Given the description of an element on the screen output the (x, y) to click on. 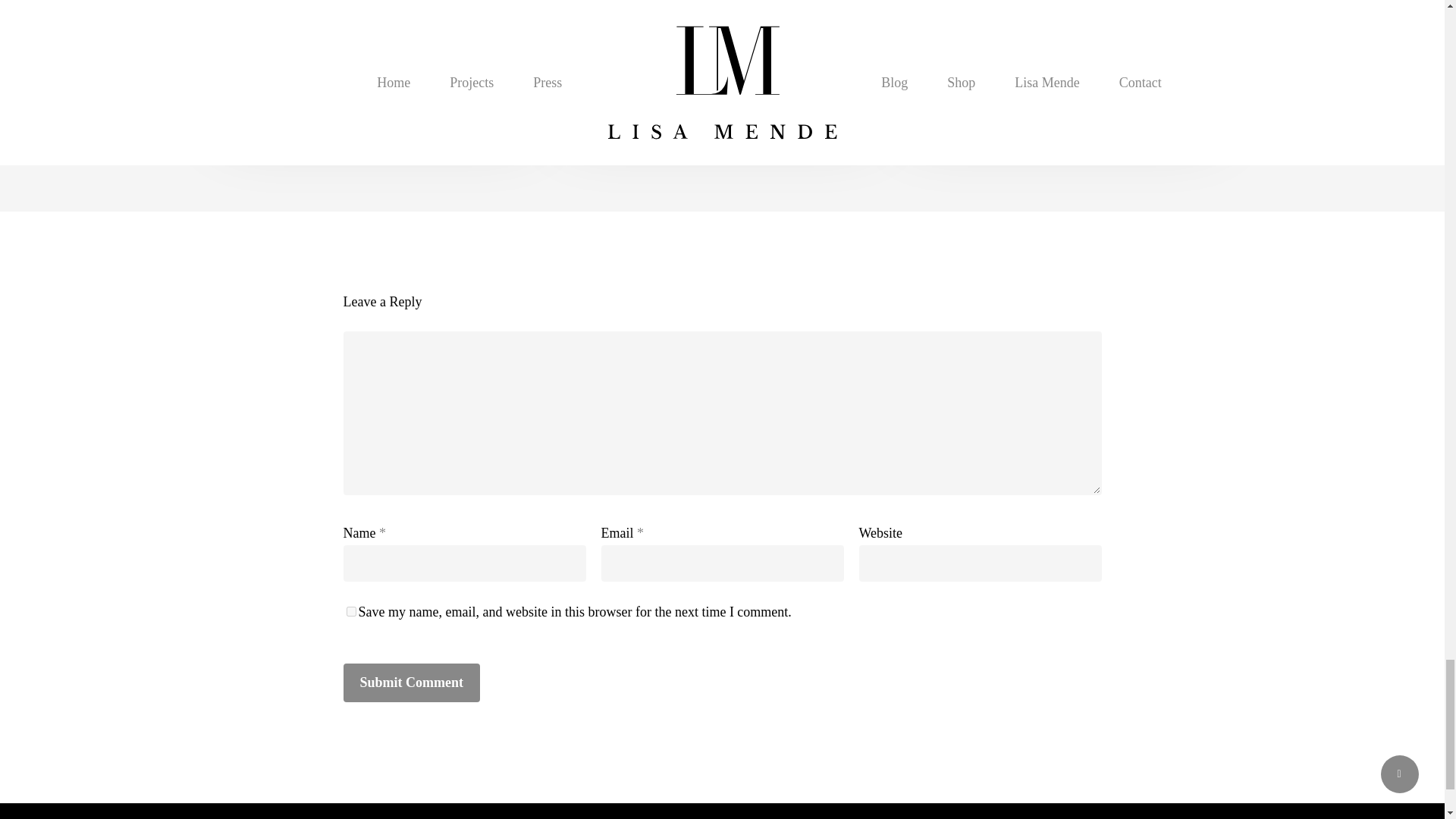
Submit Comment (411, 682)
Uncategorized (274, 40)
yes (350, 611)
